Given the description of an element on the screen output the (x, y) to click on. 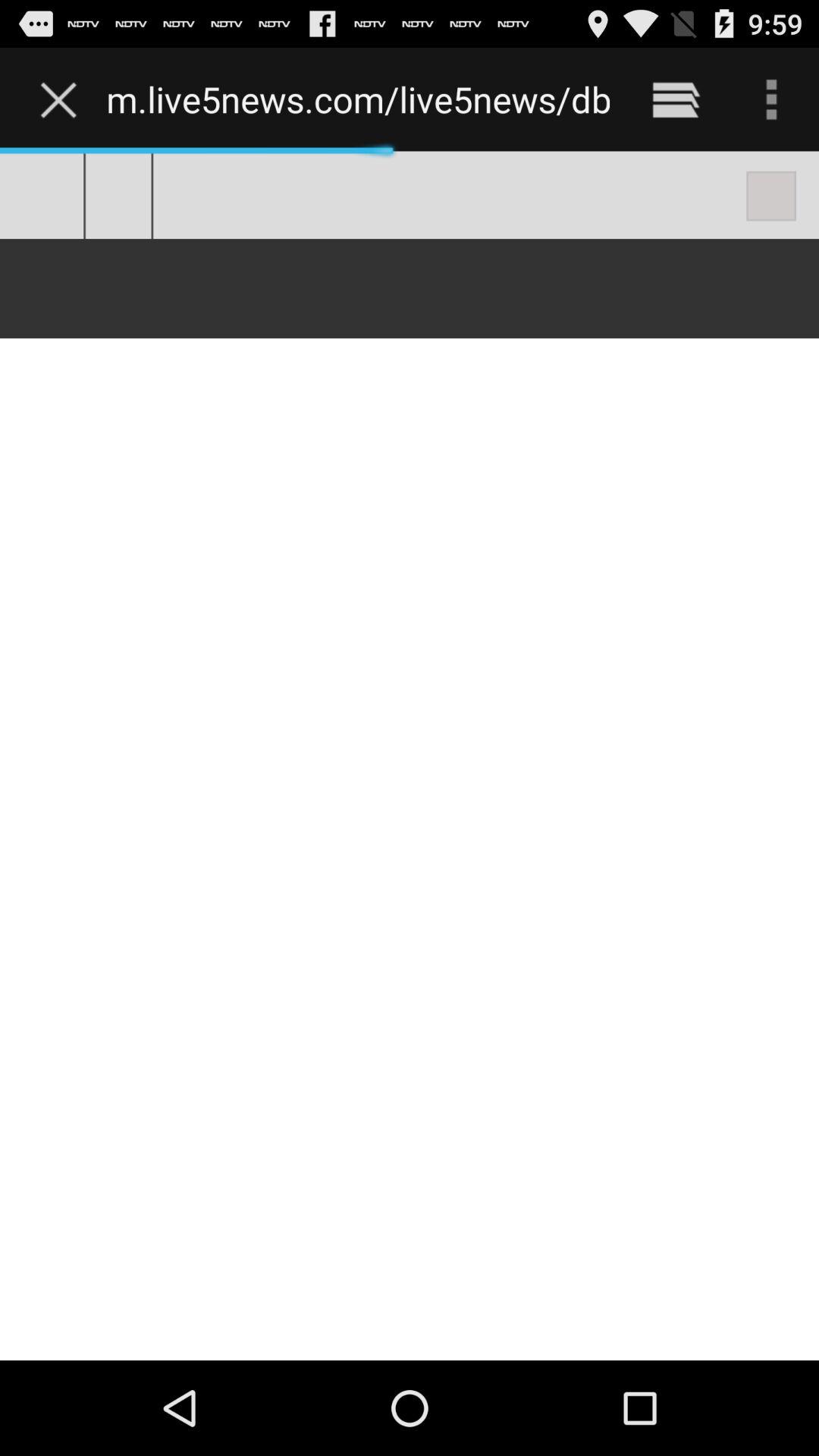
tap the icon at the top left corner (62, 99)
